Given the description of an element on the screen output the (x, y) to click on. 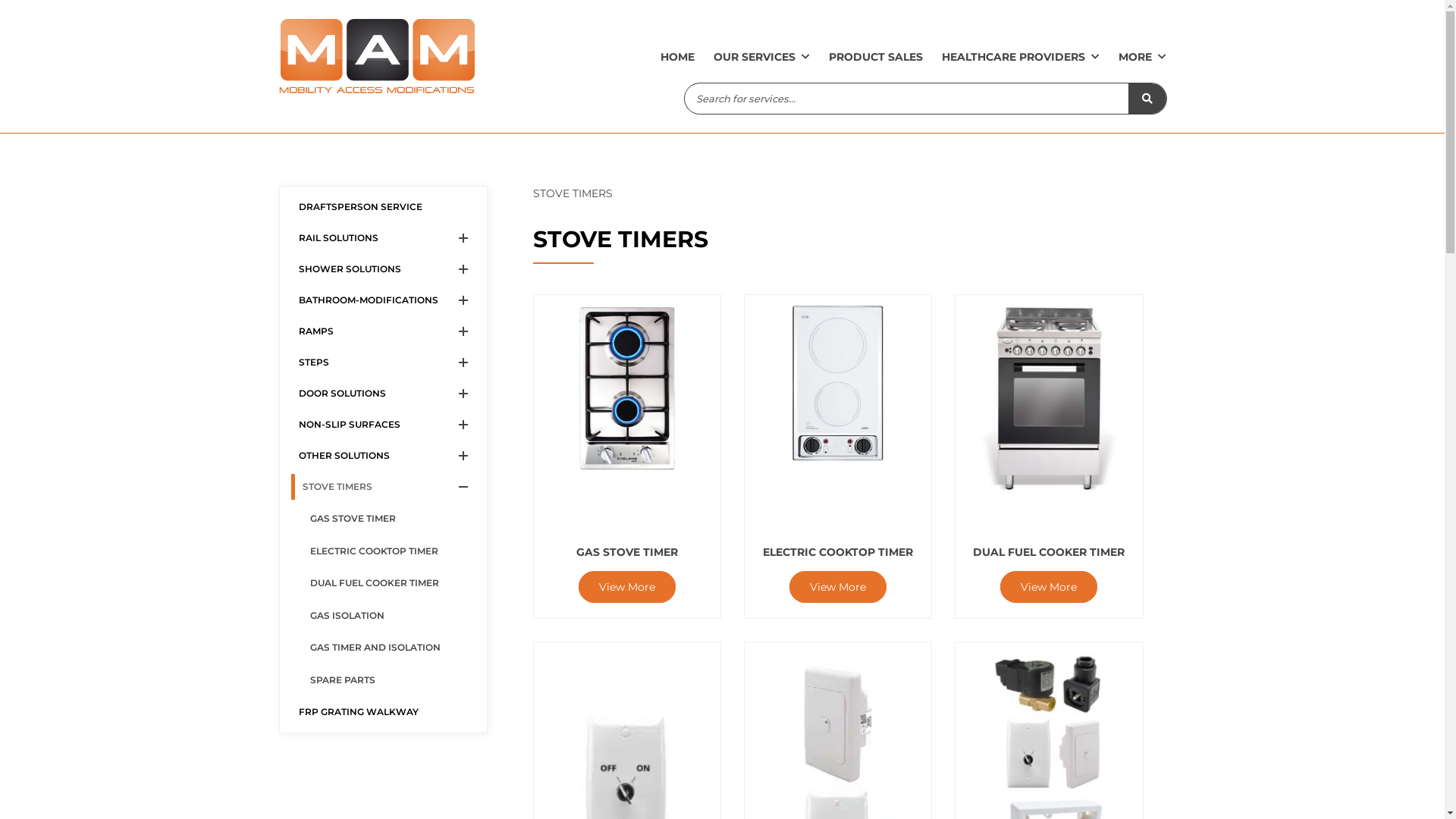
ELECTRIC COOKTOP TIMER Element type: text (387, 550)
GAS STOVE TIMER Element type: hover (626, 397)
FRP GRATING WALKWAY Element type: text (383, 711)
DUAL FUEL COOKER TIMER Element type: hover (1048, 407)
STEPS Element type: text (369, 362)
HEALTHCARE PROVIDERS Element type: text (1013, 56)
DUAL FUEL COOKER TIMER Element type: text (387, 582)
RAMPS Element type: text (369, 331)
View More Element type: text (837, 586)
GAS TIMER AND ISOLATION Element type: text (387, 647)
View More Element type: text (626, 586)
HOME Element type: text (676, 56)
OTHER SOLUTIONS Element type: text (369, 455)
DOOR SOLUTIONS Element type: text (369, 393)
PRODUCT SALES Element type: text (875, 56)
GAS STOVE TIMER Element type: text (387, 518)
STOVE TIMERS Element type: text (369, 486)
Mobility Access Modifications Element type: hover (376, 56)
ELECTRIC COOKTOP TIMER Element type: hover (837, 397)
MORE Element type: text (1134, 56)
RAIL SOLUTIONS Element type: text (369, 238)
GAS ISOLATION Element type: text (387, 615)
BATHROOM-MODIFICATIONS Element type: text (369, 300)
View More Element type: text (1048, 586)
DRAFTSPERSON SERVICE Element type: text (383, 206)
OUR SERVICES Element type: text (753, 56)
SHOWER SOLUTIONS Element type: text (369, 269)
NON-SLIP SURFACES Element type: text (369, 424)
SPARE PARTS Element type: text (387, 679)
